Given the description of an element on the screen output the (x, y) to click on. 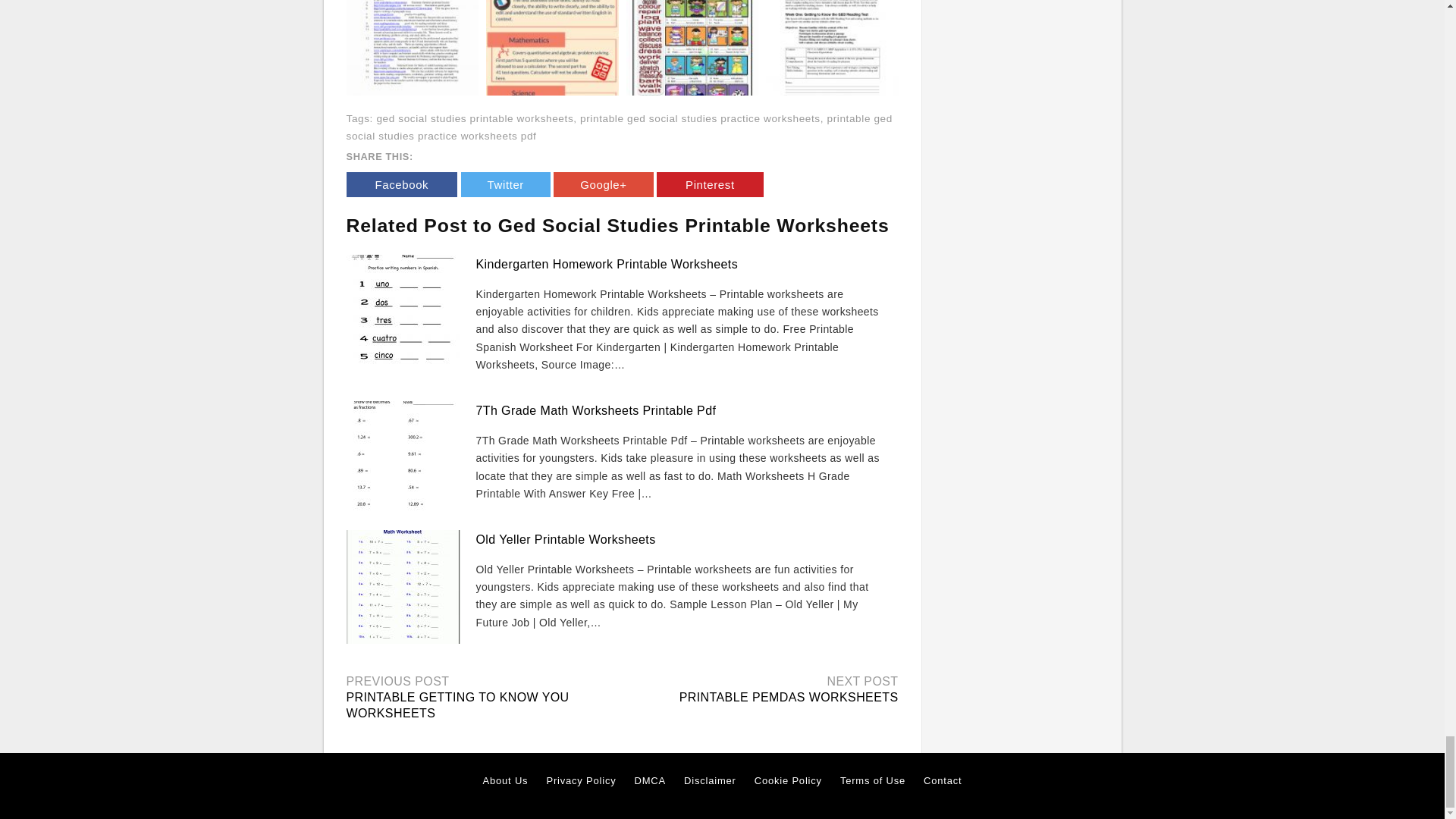
printable ged social studies practice worksheets pdf (618, 127)
ged social studies printable worksheets (474, 118)
Twitter (505, 184)
printable ged social studies practice worksheets (700, 118)
PRINTABLE PEMDAS WORKSHEETS (788, 697)
Pinterest (709, 184)
Kindergarten Homework Printable Worksheets (607, 264)
7Th Grade Math Worksheets Printable Pdf (596, 410)
Facebook (401, 184)
Old Yeller Printable Worksheets (566, 539)
PRINTABLE GETTING TO KNOW YOU WORKSHEETS (457, 705)
